Given the description of an element on the screen output the (x, y) to click on. 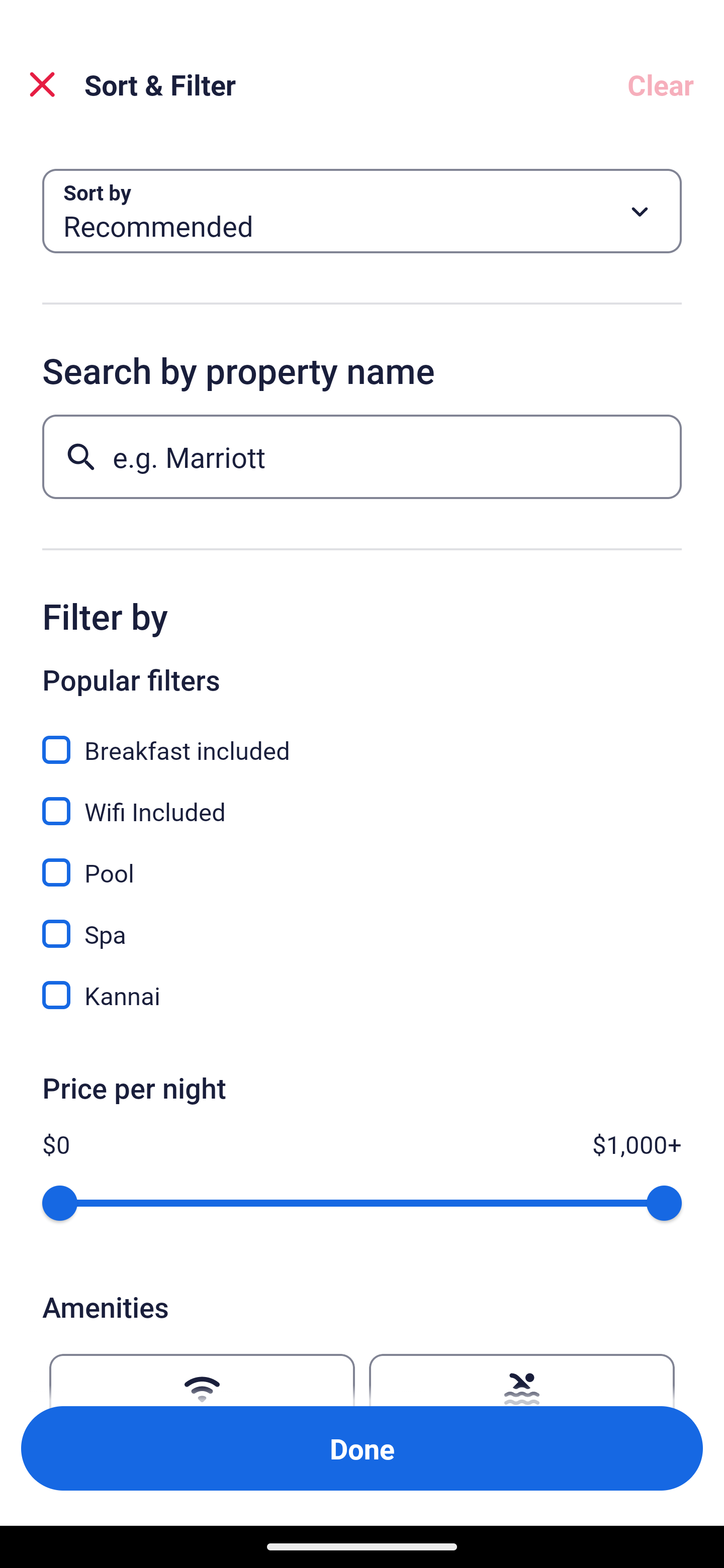
Close Sort and Filter (42, 84)
Clear (660, 84)
Sort by Button Recommended (361, 211)
e.g. Marriott Button (361, 455)
Breakfast included, Breakfast included (361, 738)
Wifi Included, Wifi Included (361, 800)
Pool, Pool (361, 861)
Spa, Spa (361, 922)
Kannai, Kannai (361, 995)
Apply and close Sort and Filter Done (361, 1448)
